Given the description of an element on the screen output the (x, y) to click on. 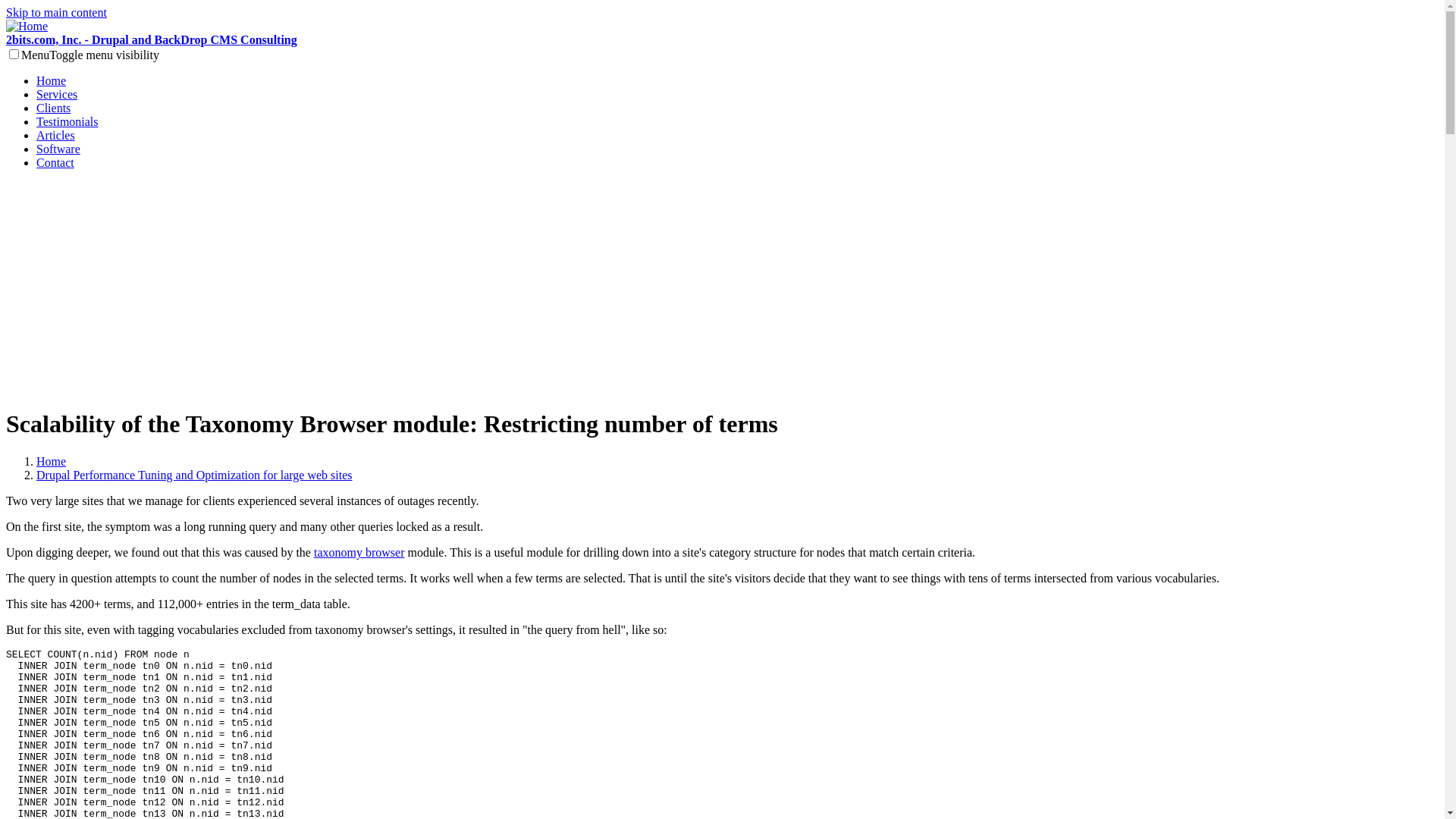
Clients Element type: text (53, 107)
taxonomy browser Element type: text (358, 552)
Software Element type: text (58, 148)
Contact Element type: text (55, 162)
Testimonials Element type: text (67, 121)
Home Element type: text (50, 80)
Services Element type: text (56, 93)
2bits.com, Inc. - Drupal and BackDrop CMS Consulting Element type: text (722, 32)
Skip to main content Element type: text (56, 12)
Advertisement Element type: hover (721, 288)
Articles Element type: text (55, 134)
Home Element type: text (50, 461)
